Given the description of an element on the screen output the (x, y) to click on. 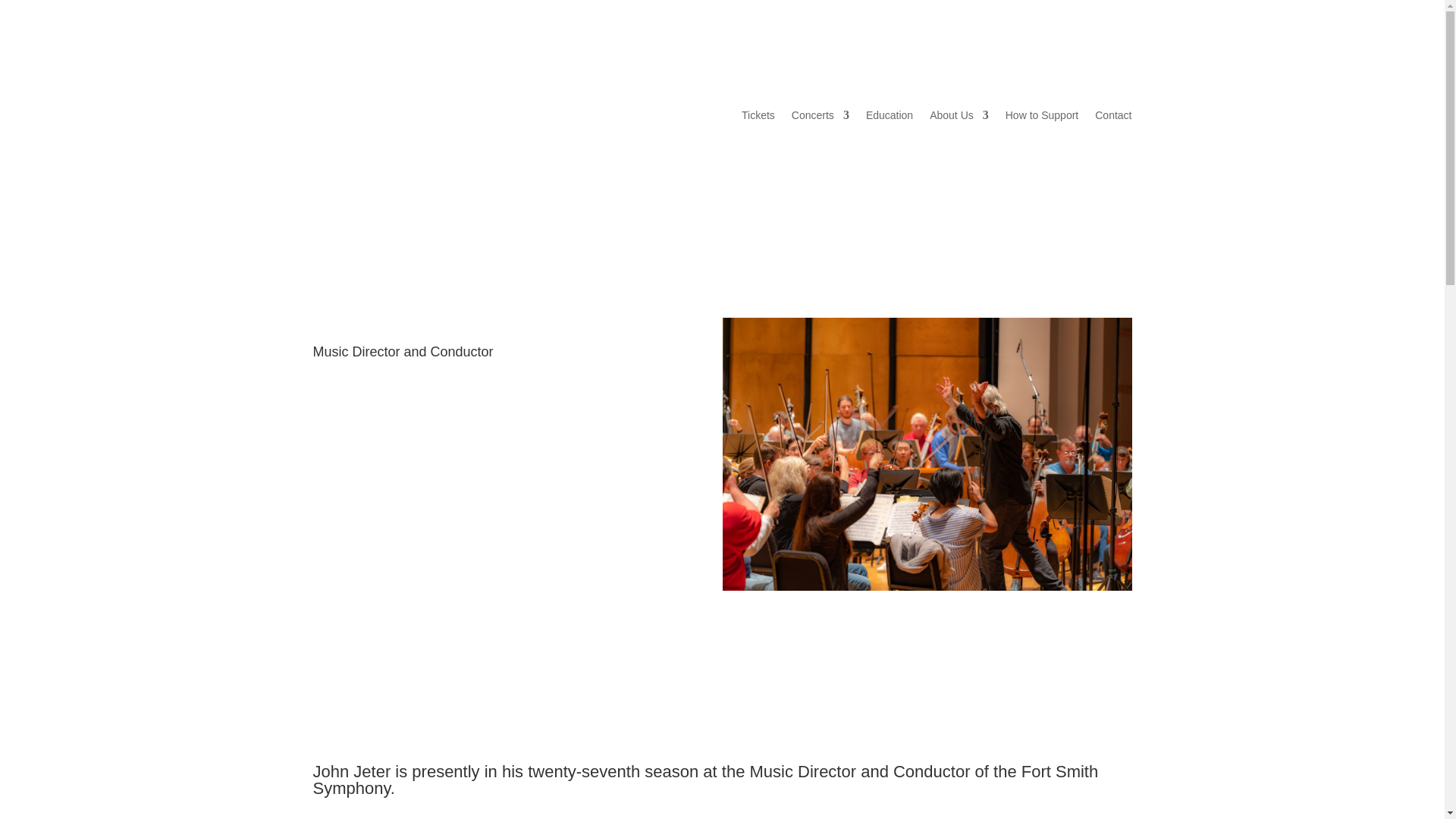
Concerts (820, 115)
About Us (959, 115)
How to Support (1042, 115)
DSC07514 (926, 453)
